Given the description of an element on the screen output the (x, y) to click on. 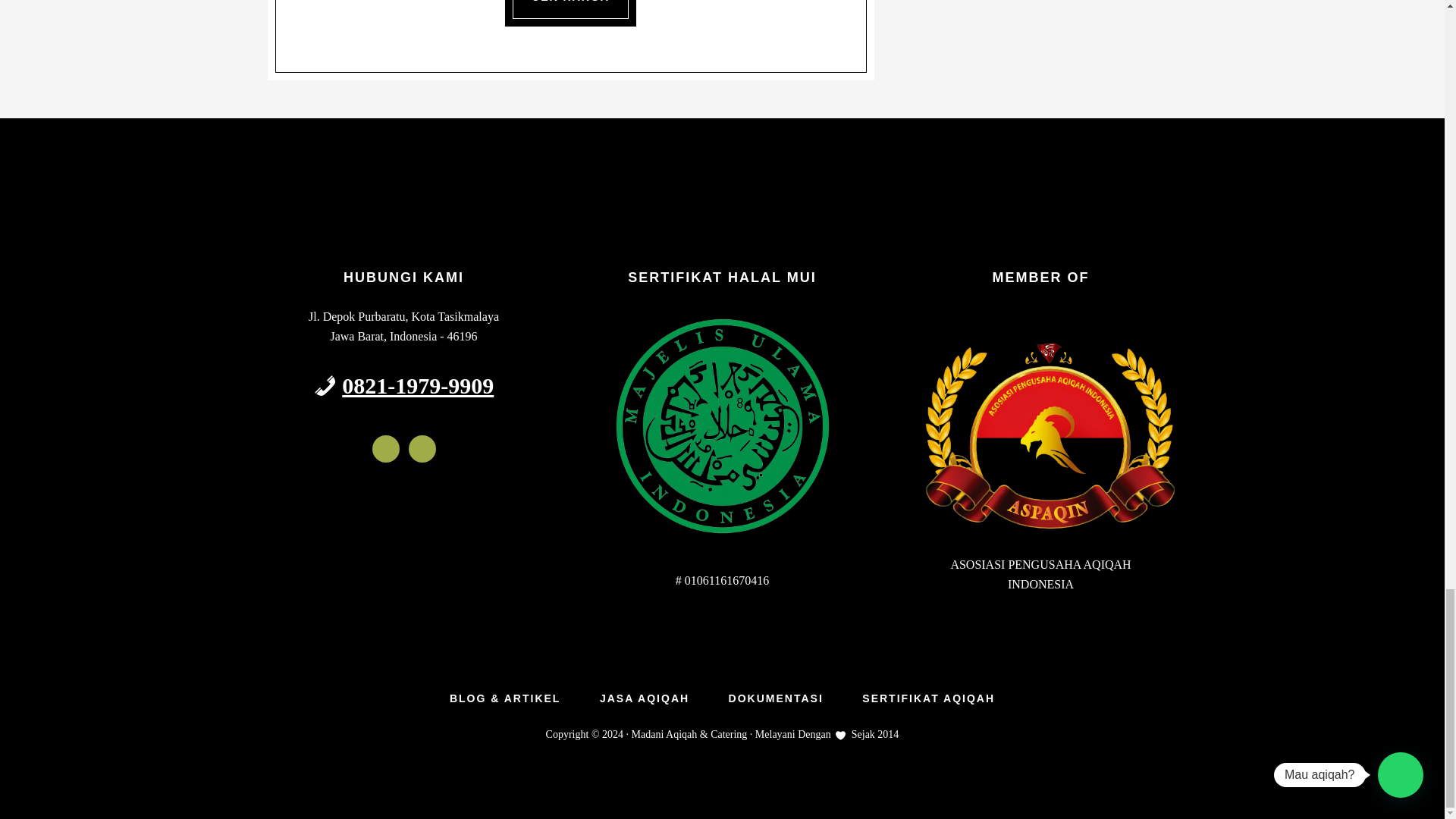
CEK HARGA (570, 9)
SERTIFIKAT AQIQAH (928, 698)
0821-1979-9909 (417, 385)
JASA AQIQAH (643, 698)
DOKUMENTASI (775, 698)
